Given the description of an element on the screen output the (x, y) to click on. 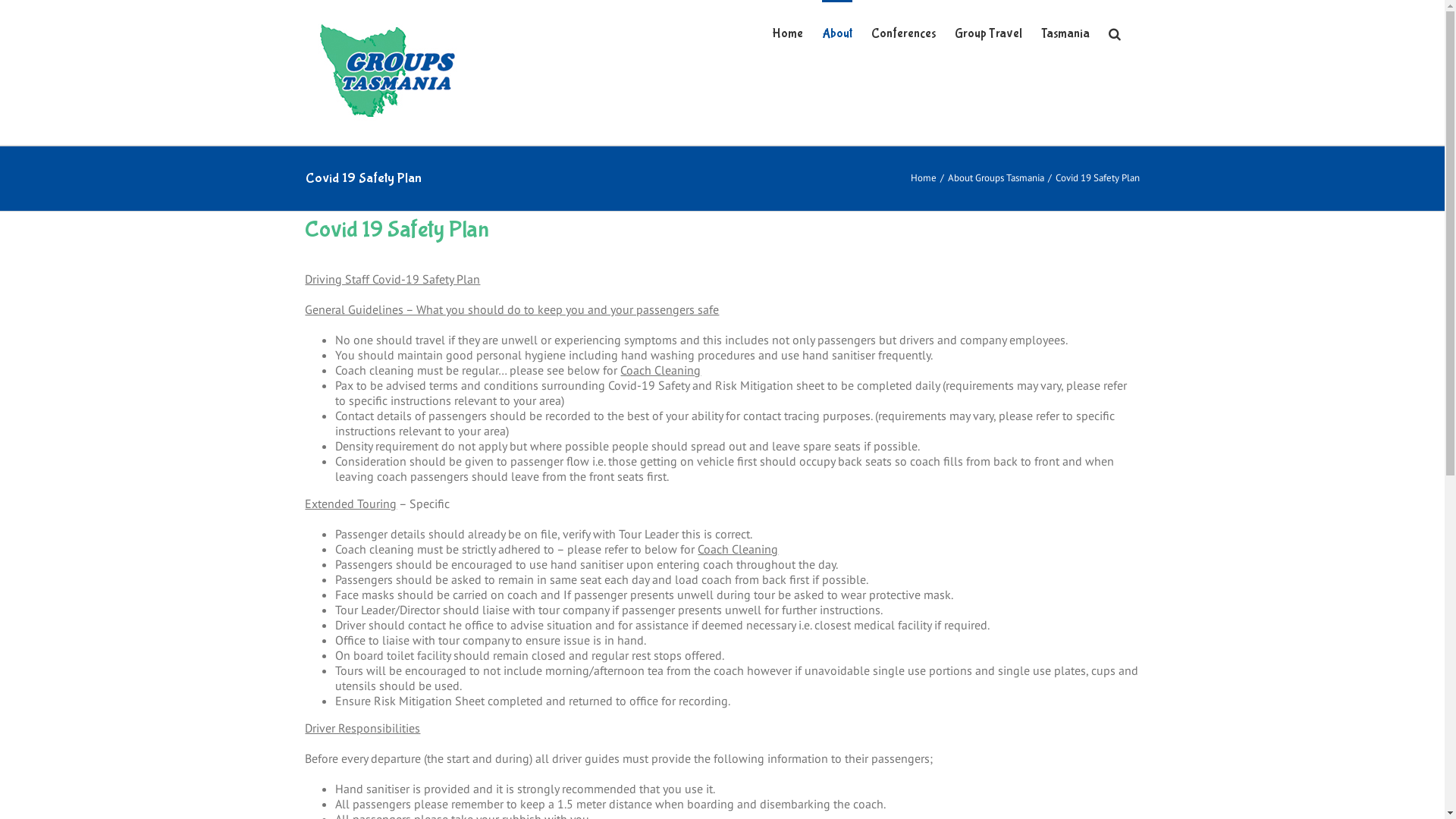
Home Element type: text (787, 32)
Home Element type: text (922, 177)
Tasmania Element type: text (1064, 32)
About Groups Tasmania Element type: text (995, 177)
About Element type: text (837, 32)
Search Element type: hover (1114, 32)
Conferences Element type: text (902, 32)
Group Travel Element type: text (987, 32)
